Given the description of an element on the screen output the (x, y) to click on. 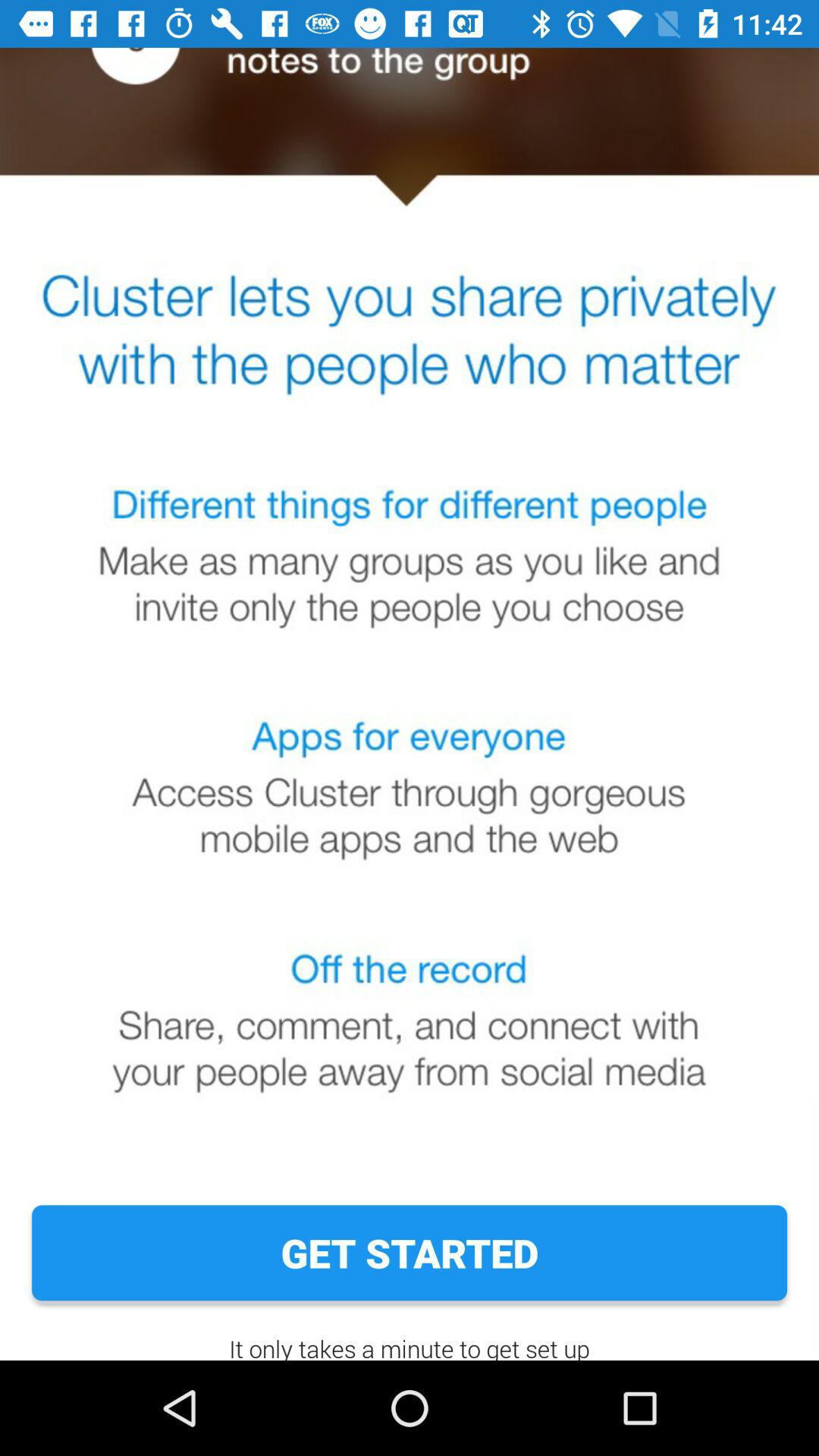
tap get started item (409, 1252)
